Given the description of an element on the screen output the (x, y) to click on. 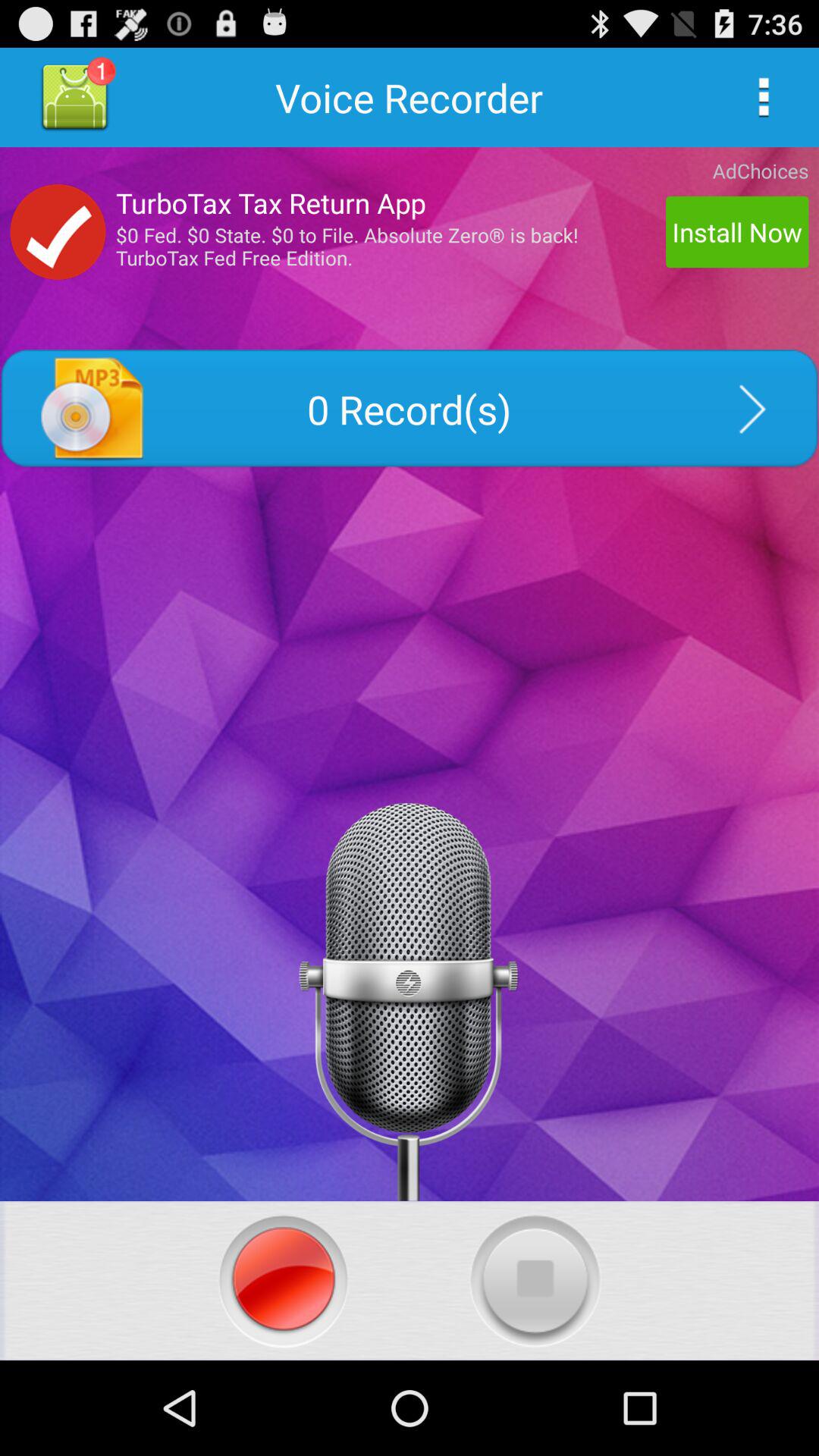
start recording (283, 1280)
